Given the description of an element on the screen output the (x, y) to click on. 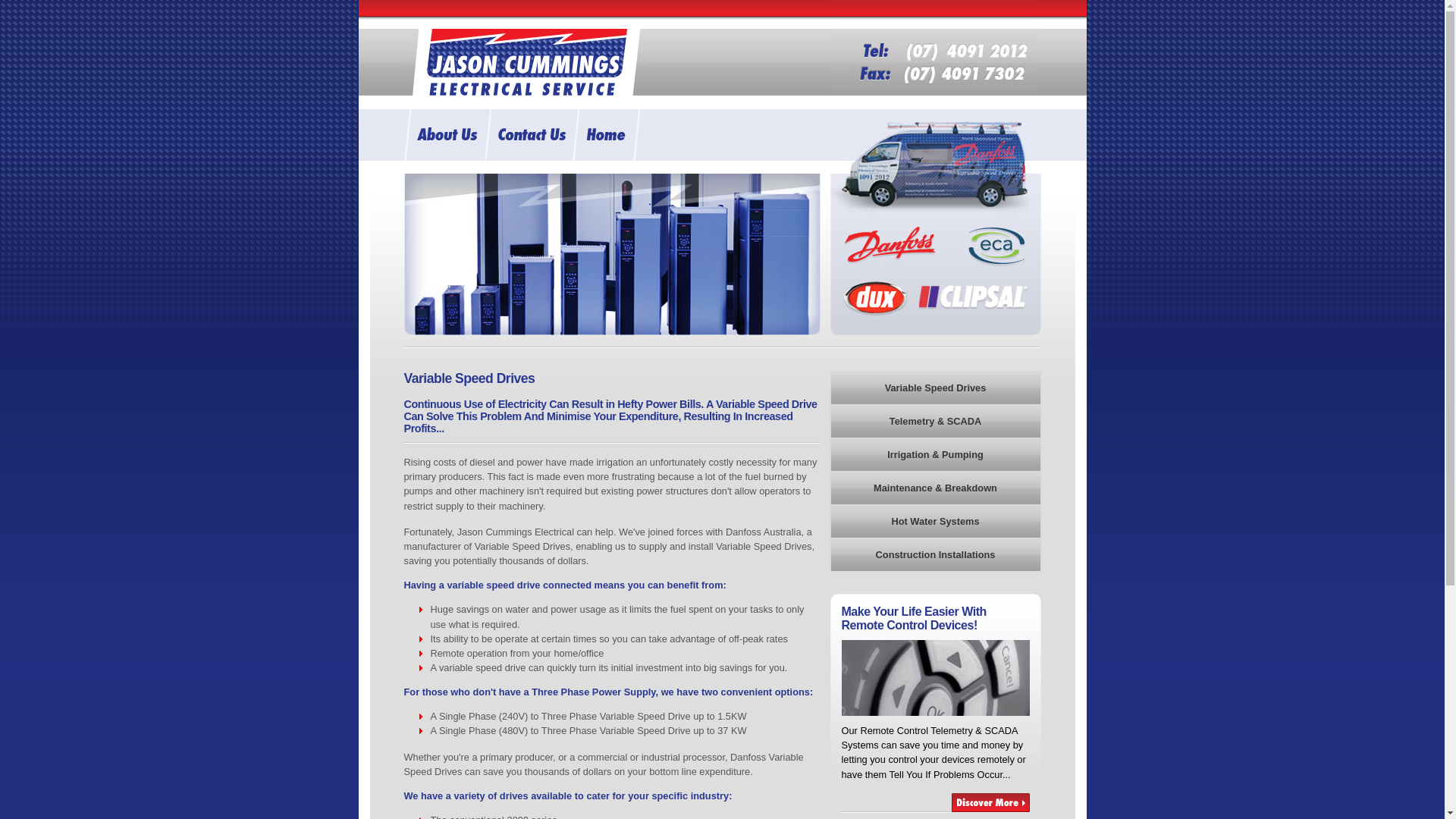
Hot Water Systems Element type: text (934, 520)
Irrigation & Pumping Element type: text (934, 453)
Telemetry & SCADA Element type: text (934, 420)
Construction Installations Element type: text (934, 554)
Back to Home Page Element type: hover (605, 134)
Variable Speed Drives Element type: text (934, 387)
Who We Are & What We Do Element type: hover (443, 134)
Maintenance & Breakdown Element type: text (934, 487)
Contact Us Today Element type: hover (527, 134)
